Given the description of an element on the screen output the (x, y) to click on. 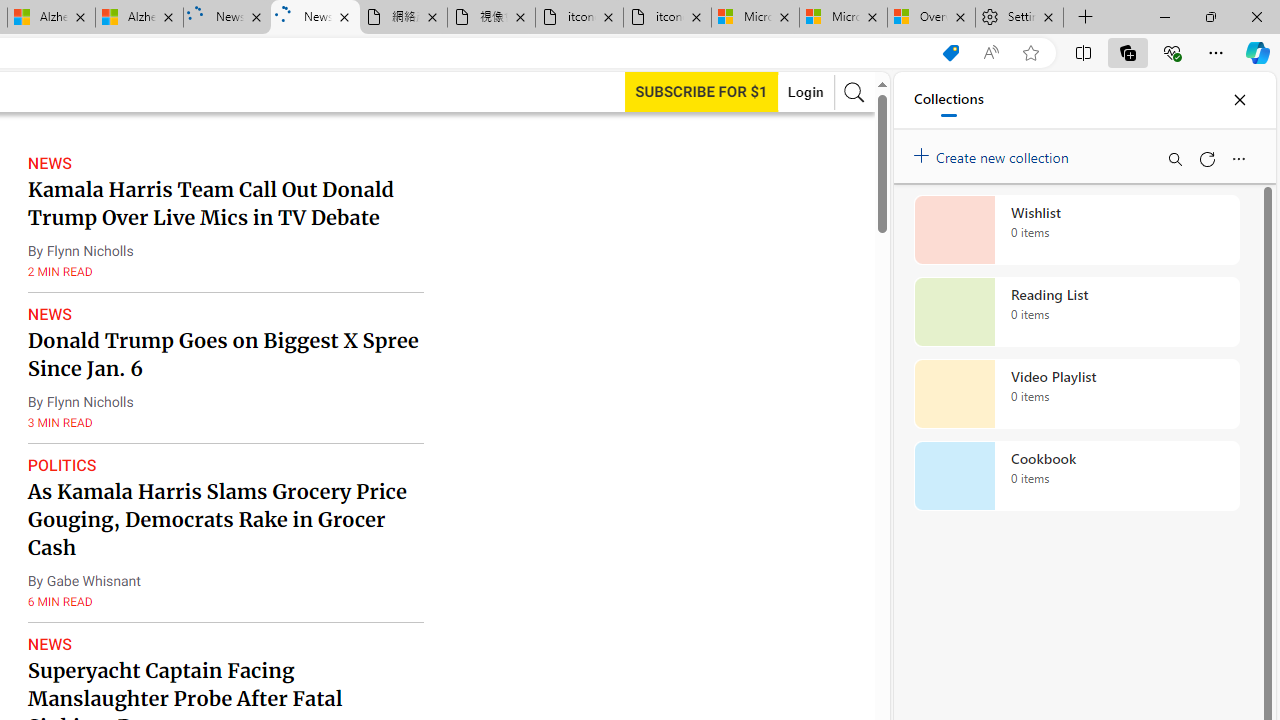
By Gabe Whisnant (83, 581)
Login (805, 92)
Video Playlist collection, 0 items (1076, 394)
AutomationID: search-btn (854, 92)
Overview (931, 17)
POLITICS (61, 465)
NEWS (48, 644)
